Given the description of an element on the screen output the (x, y) to click on. 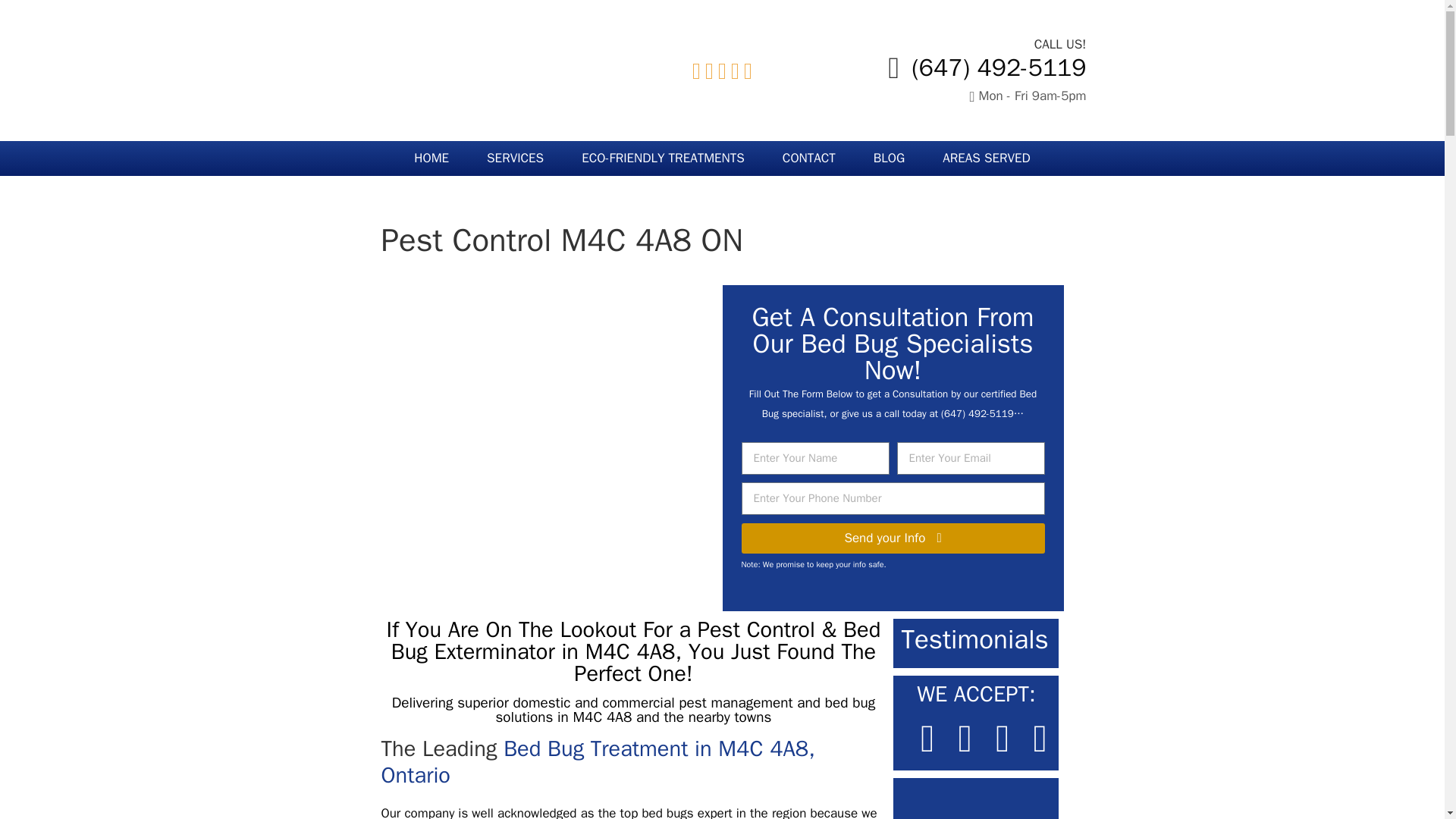
BLOG (888, 158)
CONTACT (808, 158)
SERVICES (514, 158)
ECO-FRIENDLY TREATMENTS (662, 158)
HOME (430, 158)
AREAS SERVED (985, 158)
